Given the description of an element on the screen output the (x, y) to click on. 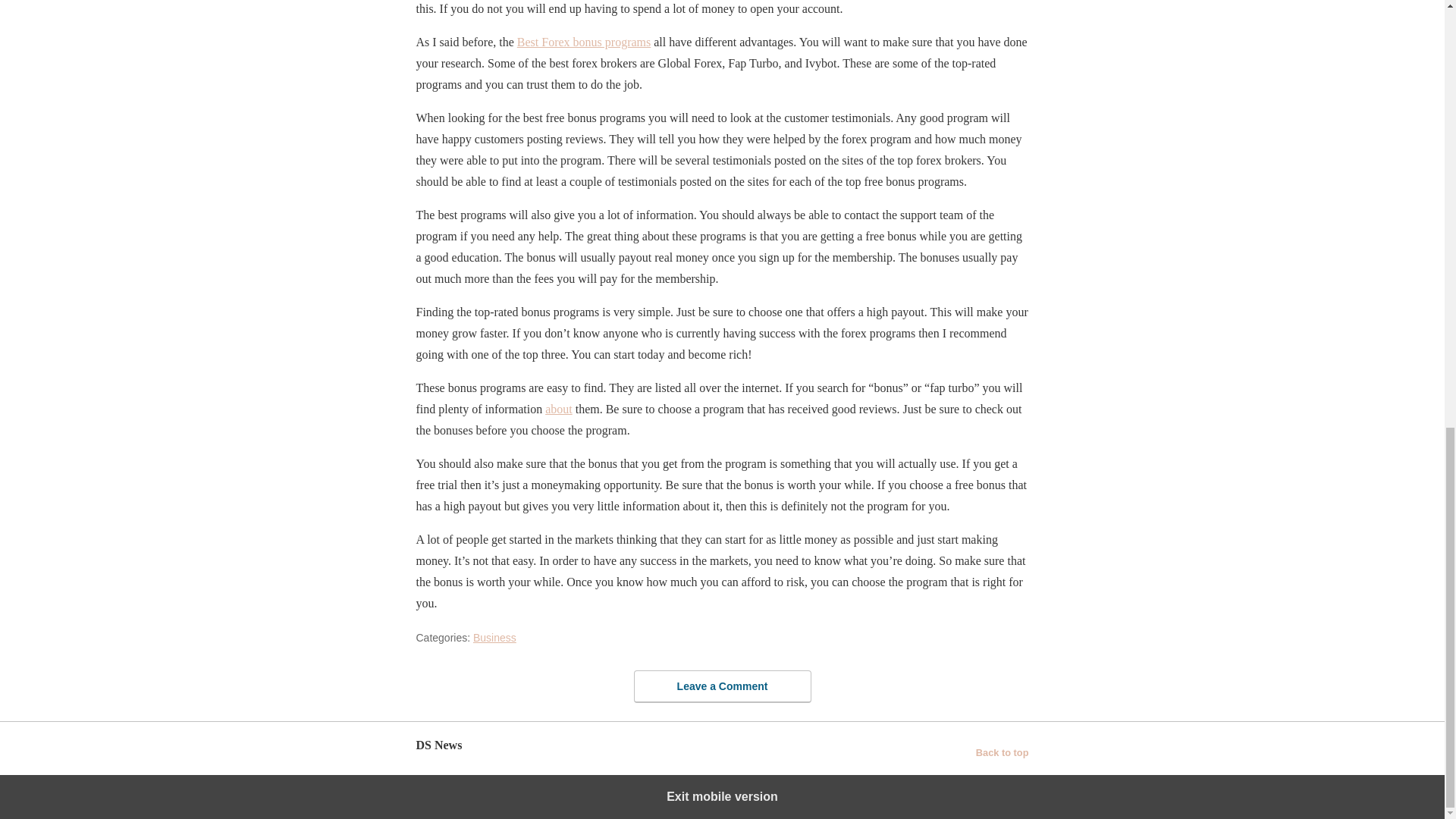
about (558, 408)
Leave a Comment (721, 686)
Best Forex bonus programs (583, 42)
Back to top (1002, 752)
Business (494, 637)
